Given the description of an element on the screen output the (x, y) to click on. 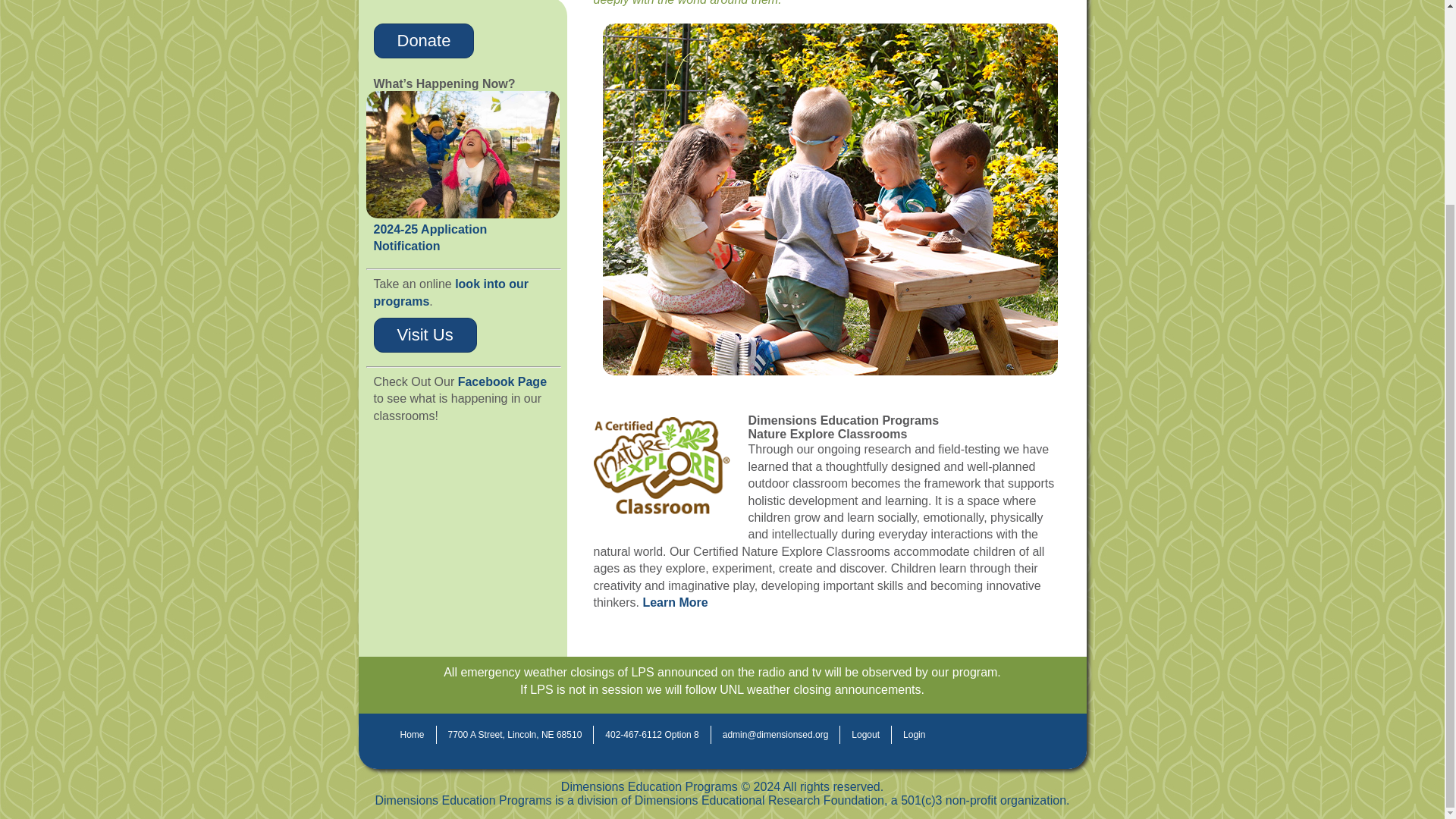
Visit Us (424, 334)
Login (913, 734)
Logout (865, 734)
402-467-6112 Option 8 (652, 734)
Facebook Page (502, 381)
Donate (423, 40)
7700 A Street, Lincoln, NE 68510 (515, 734)
look into our programs (450, 292)
2024-25 Application Notification (429, 236)
Home (411, 734)
Learn More (674, 602)
